Given the description of an element on the screen output the (x, y) to click on. 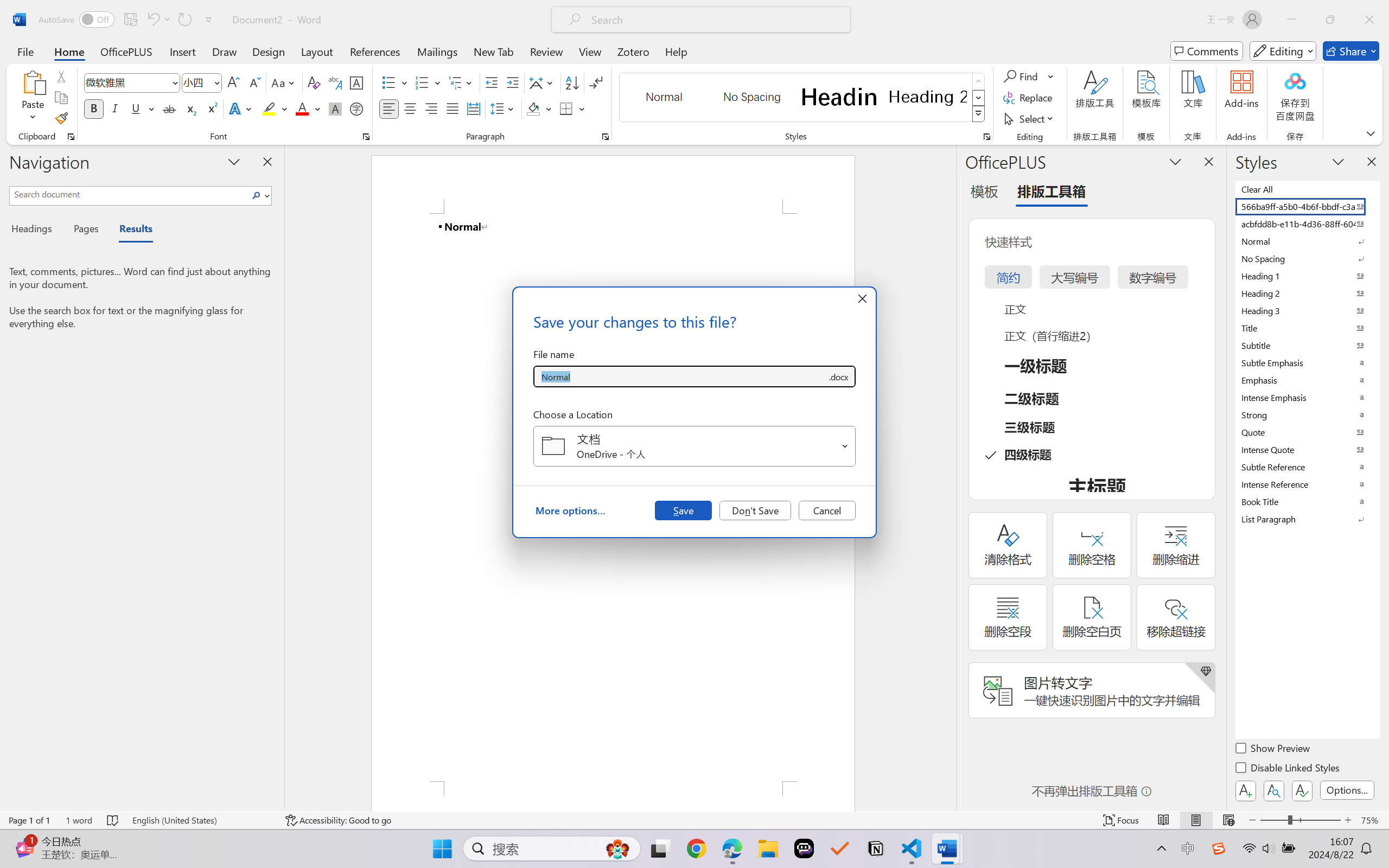
Font Color Red (302, 108)
Find (1029, 75)
Grow Font (233, 82)
Mailings (437, 51)
Review (546, 51)
Intense Emphasis (1306, 397)
Font (132, 82)
Clear Formatting (313, 82)
References (375, 51)
Clear All (1306, 188)
